Given the description of an element on the screen output the (x, y) to click on. 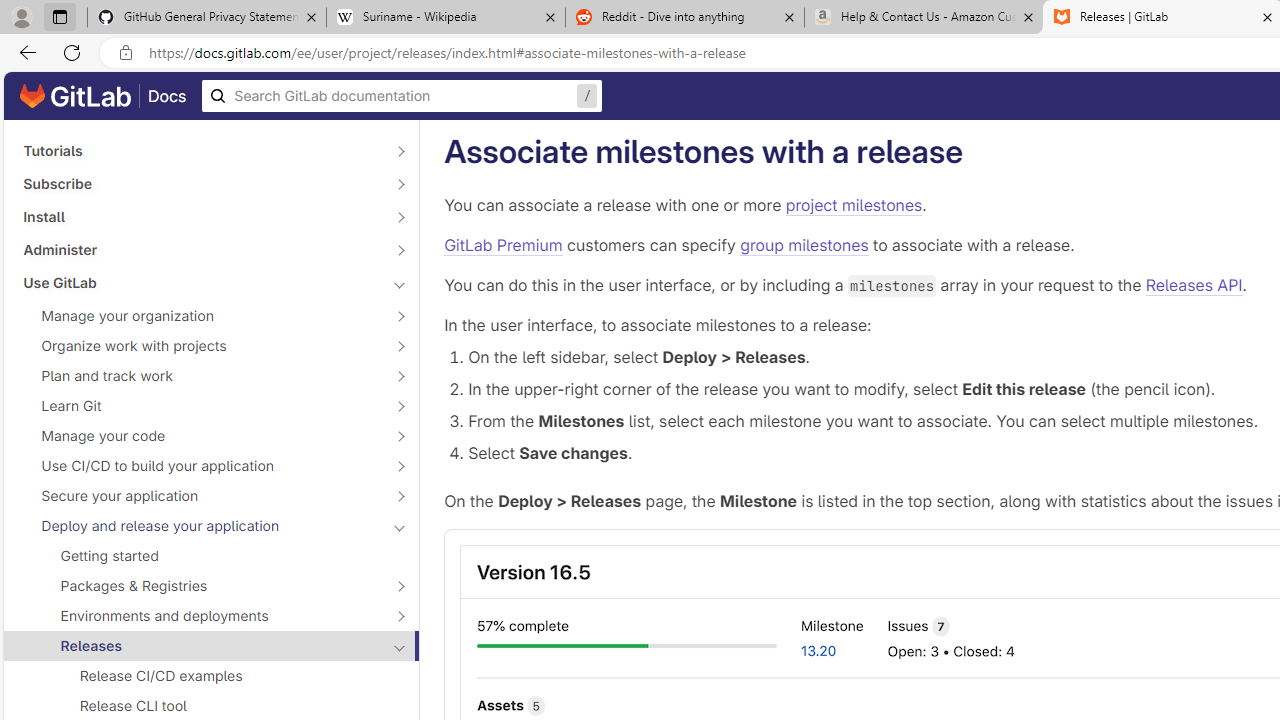
group milestones (804, 245)
Packages & Registries (199, 585)
Deploy and release your application (199, 525)
project milestones (853, 204)
Environments and deployments (199, 615)
Getting started (211, 555)
